Given the description of an element on the screen output the (x, y) to click on. 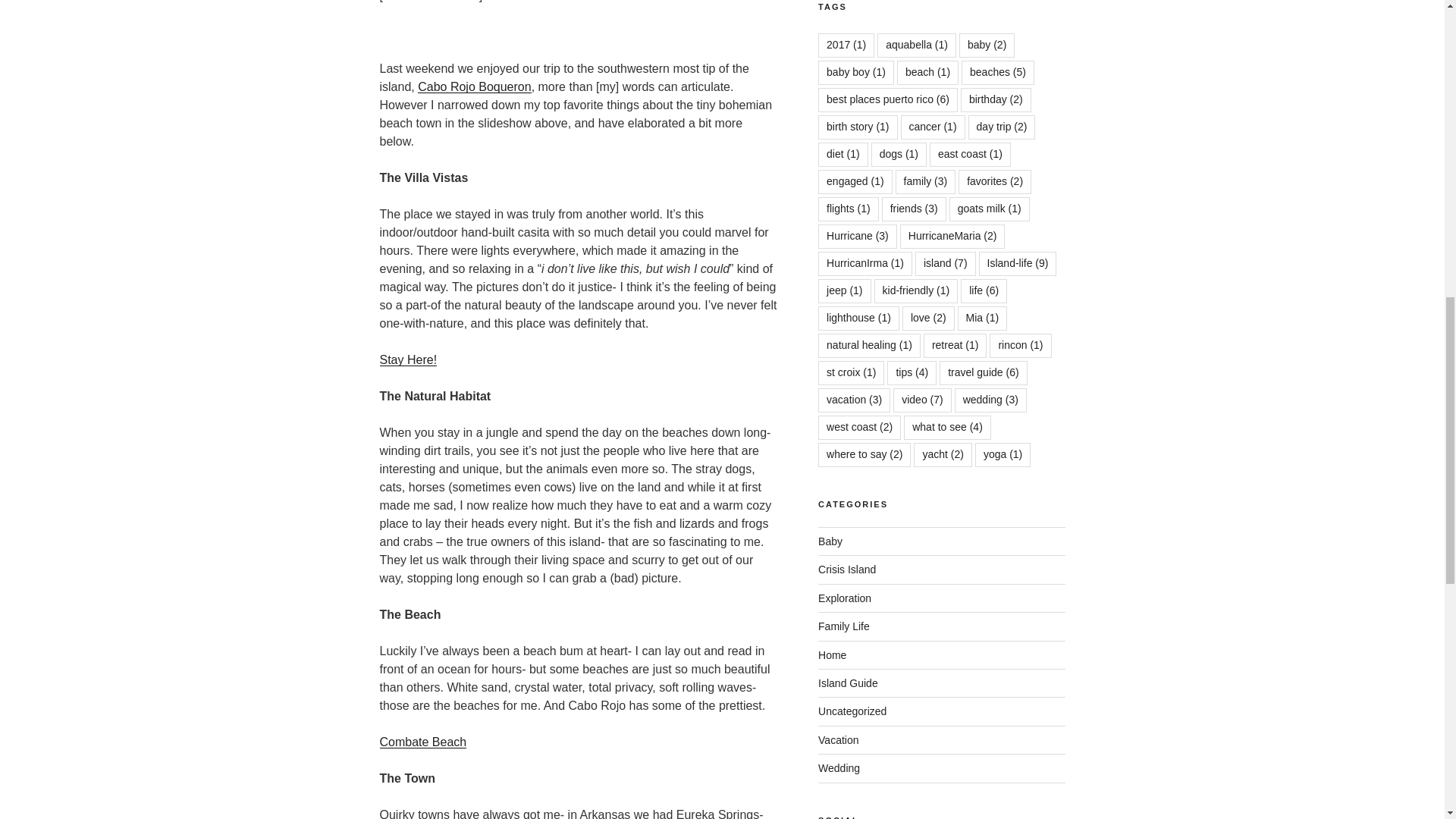
Cabo Rojo Boqueron (474, 86)
Combate Beach (421, 741)
Stay Here! (407, 359)
